Given the description of an element on the screen output the (x, y) to click on. 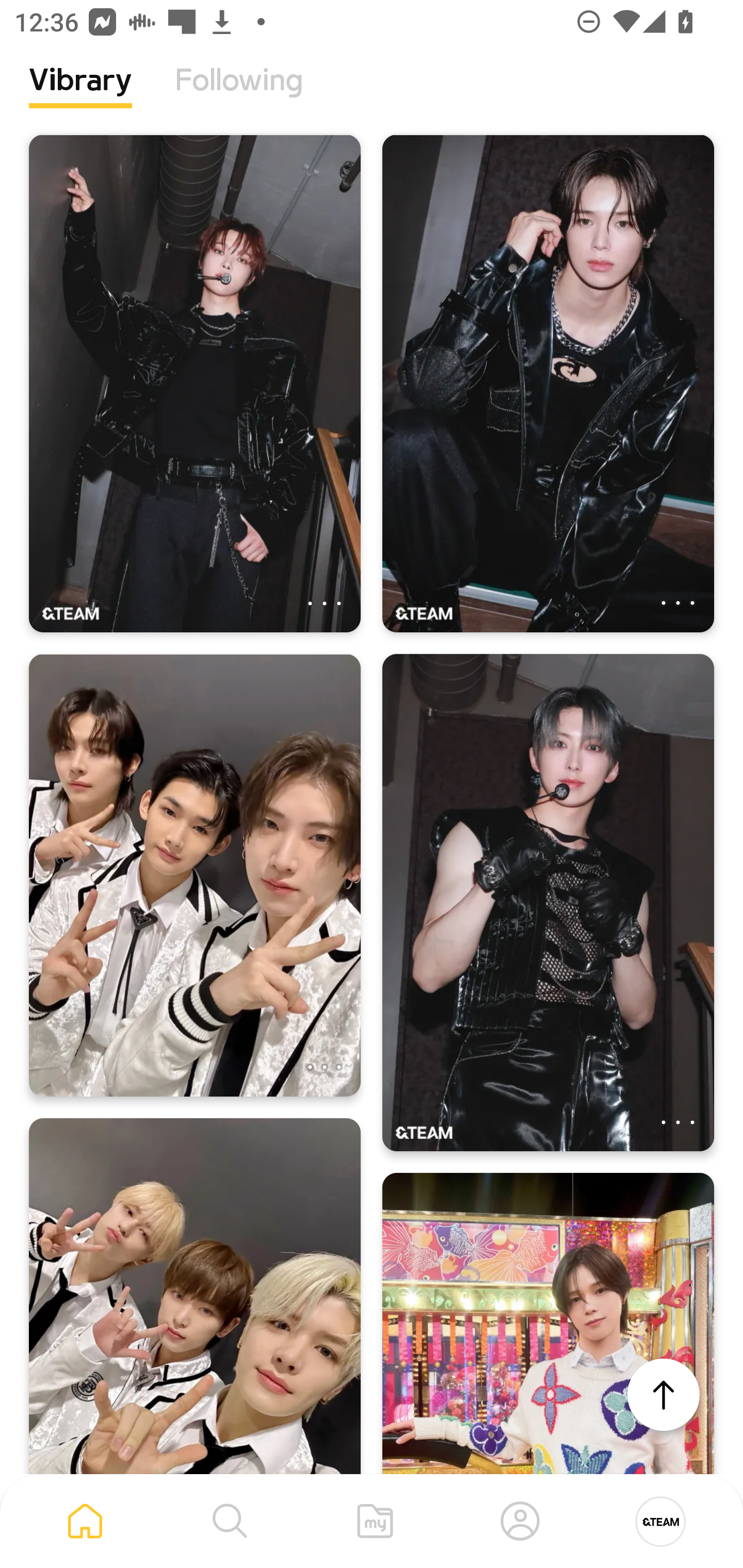
Vibrary (80, 95)
Following (239, 95)
